Given the description of an element on the screen output the (x, y) to click on. 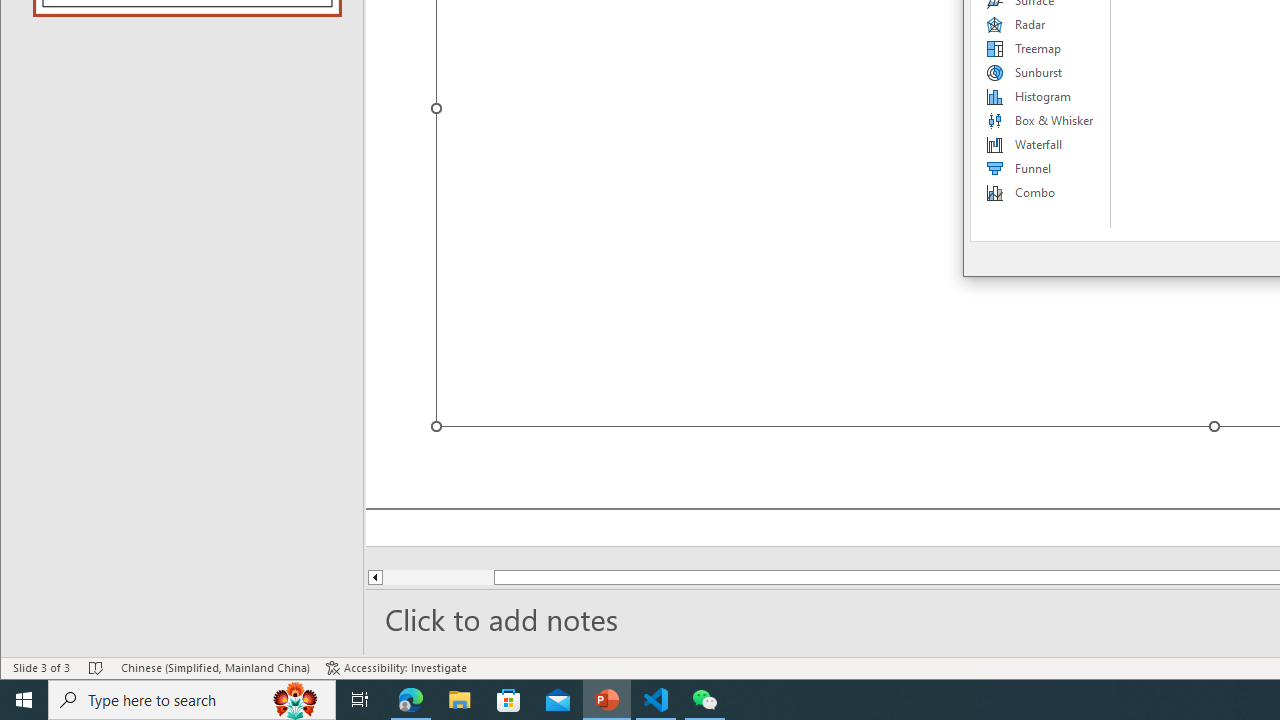
Histogram (1041, 96)
Box & Whisker (1041, 120)
Microsoft Store (509, 699)
Visual Studio Code - 1 running window (656, 699)
Page up (438, 577)
File Explorer (460, 699)
Waterfall (1041, 144)
